Given the description of an element on the screen output the (x, y) to click on. 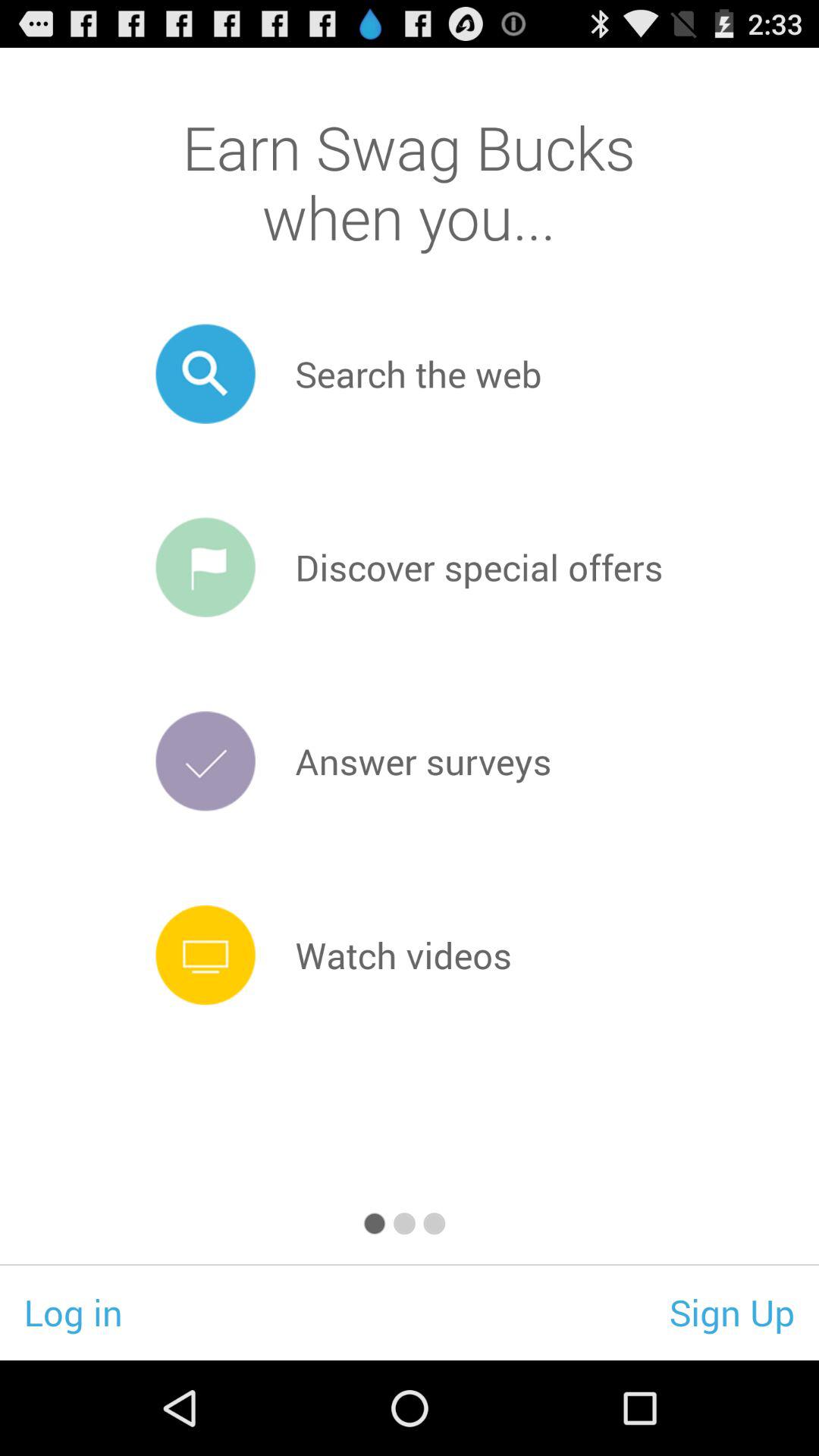
click app next to log in (732, 1312)
